Given the description of an element on the screen output the (x, y) to click on. 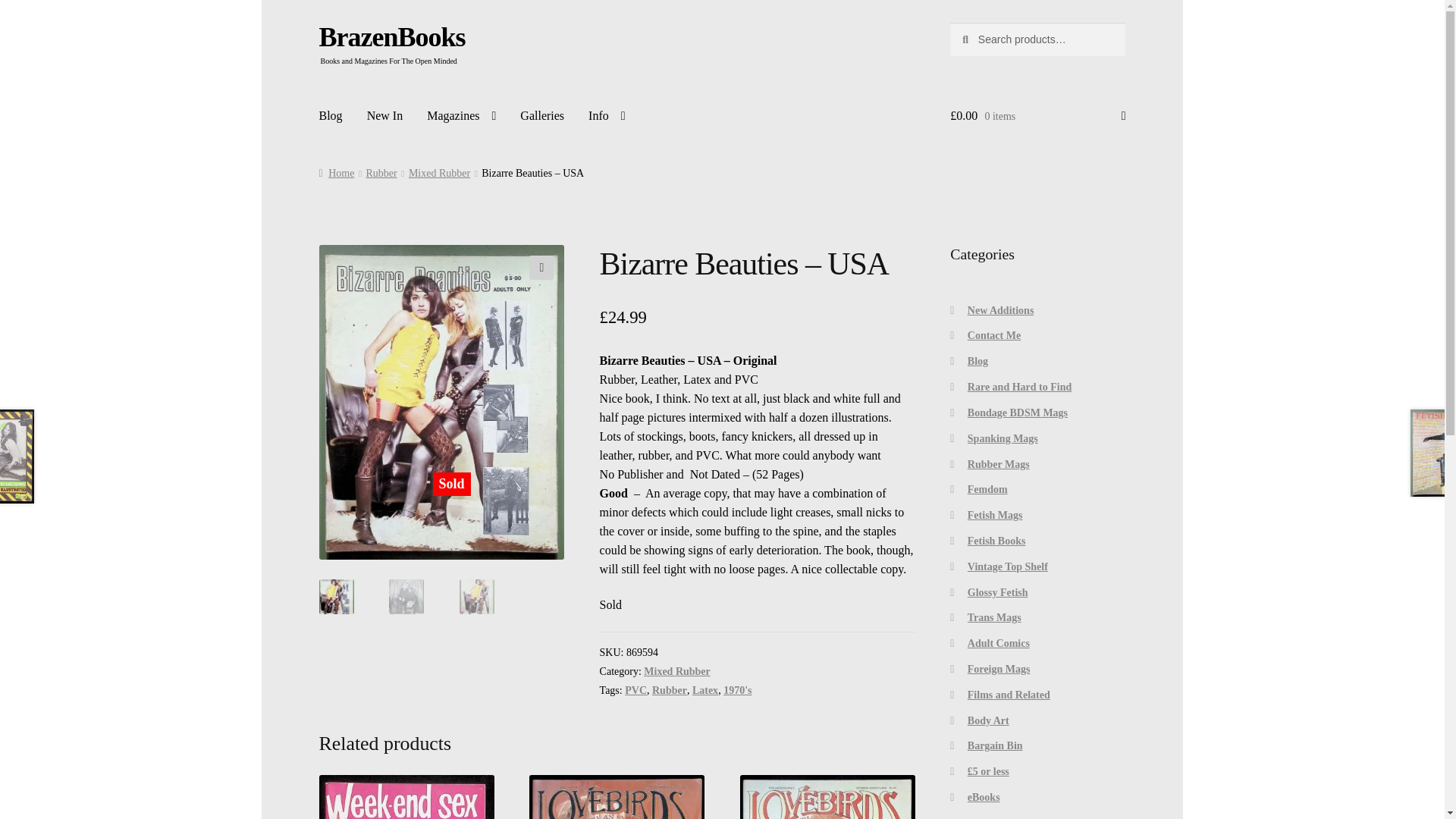
Magazines (461, 115)
View your shopping basket (1037, 115)
Info (606, 115)
New In (384, 115)
Galleries (542, 115)
BrazenBooks (391, 37)
